Given the description of an element on the screen output the (x, y) to click on. 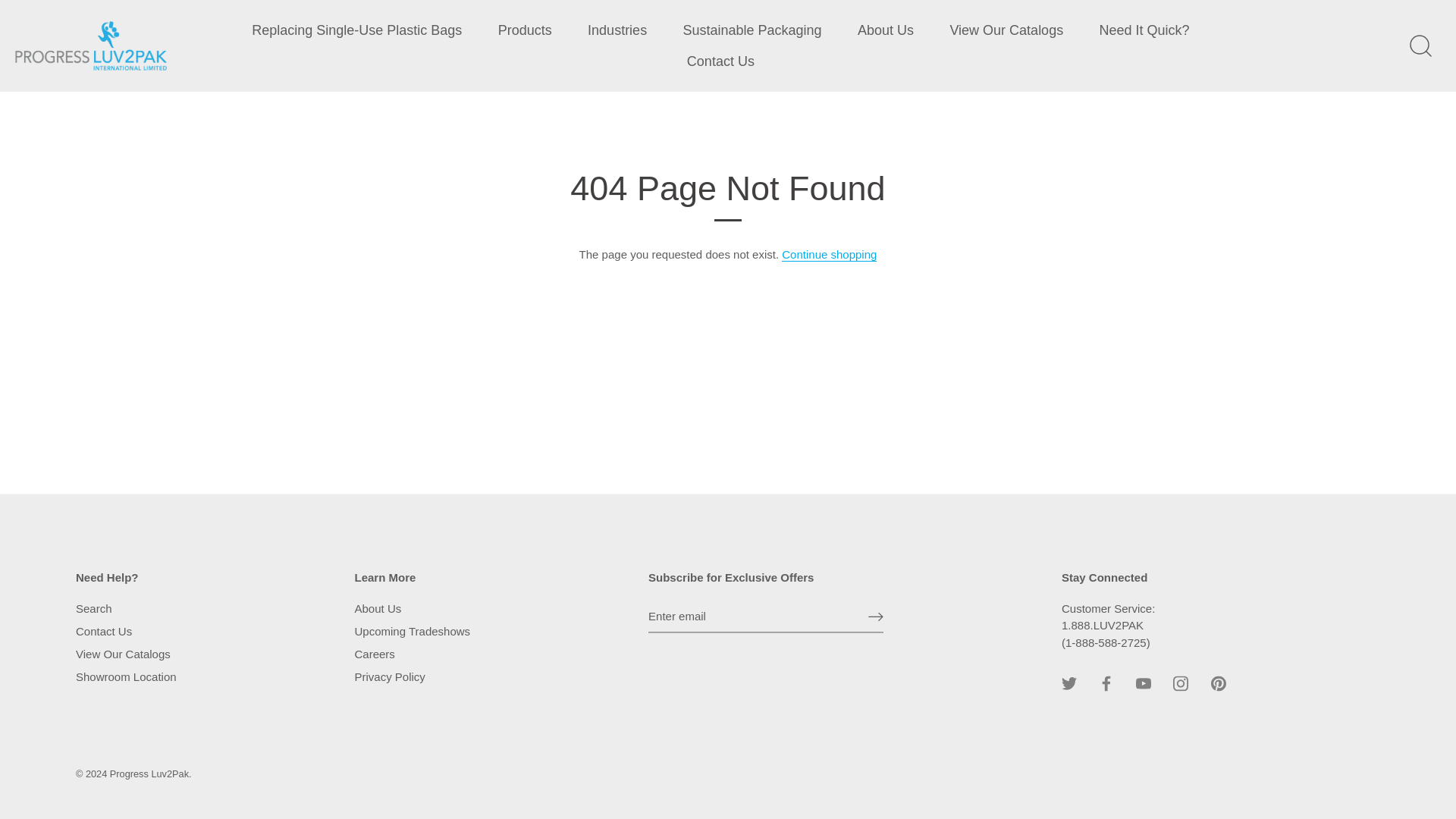
Twitter (1069, 683)
Replacing Single-Use Plastic Bags (357, 30)
Industries (617, 30)
Pinterest (1218, 683)
RIGHT ARROW LONG (875, 616)
About Us (885, 30)
Youtube (1143, 683)
Products (524, 30)
Sustainable Packaging (752, 30)
Instagram (1180, 683)
